Given the description of an element on the screen output the (x, y) to click on. 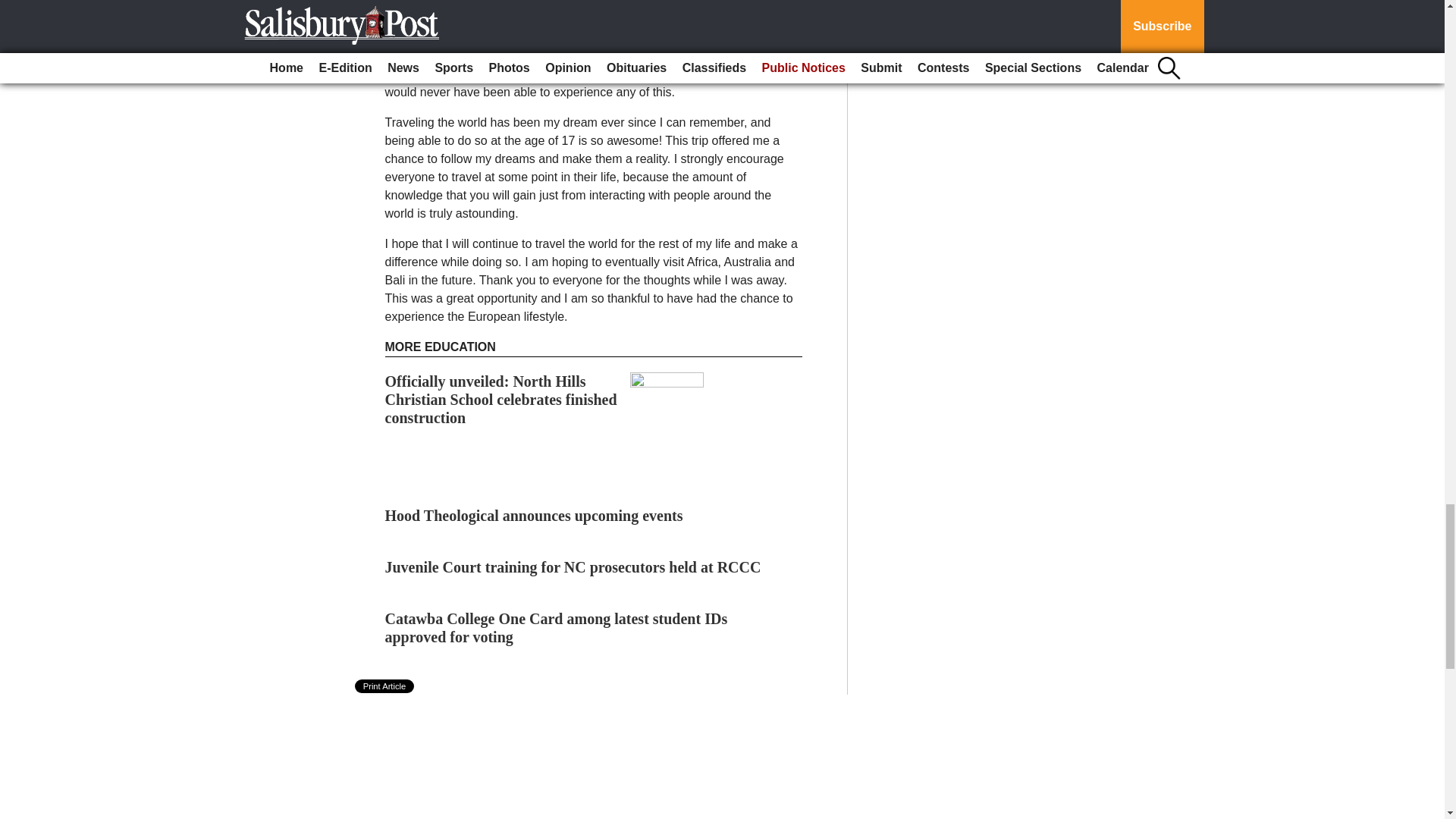
Hood Theological announces upcoming events (533, 515)
Juvenile Court training for NC prosecutors held at RCCC (573, 566)
